Given the description of an element on the screen output the (x, y) to click on. 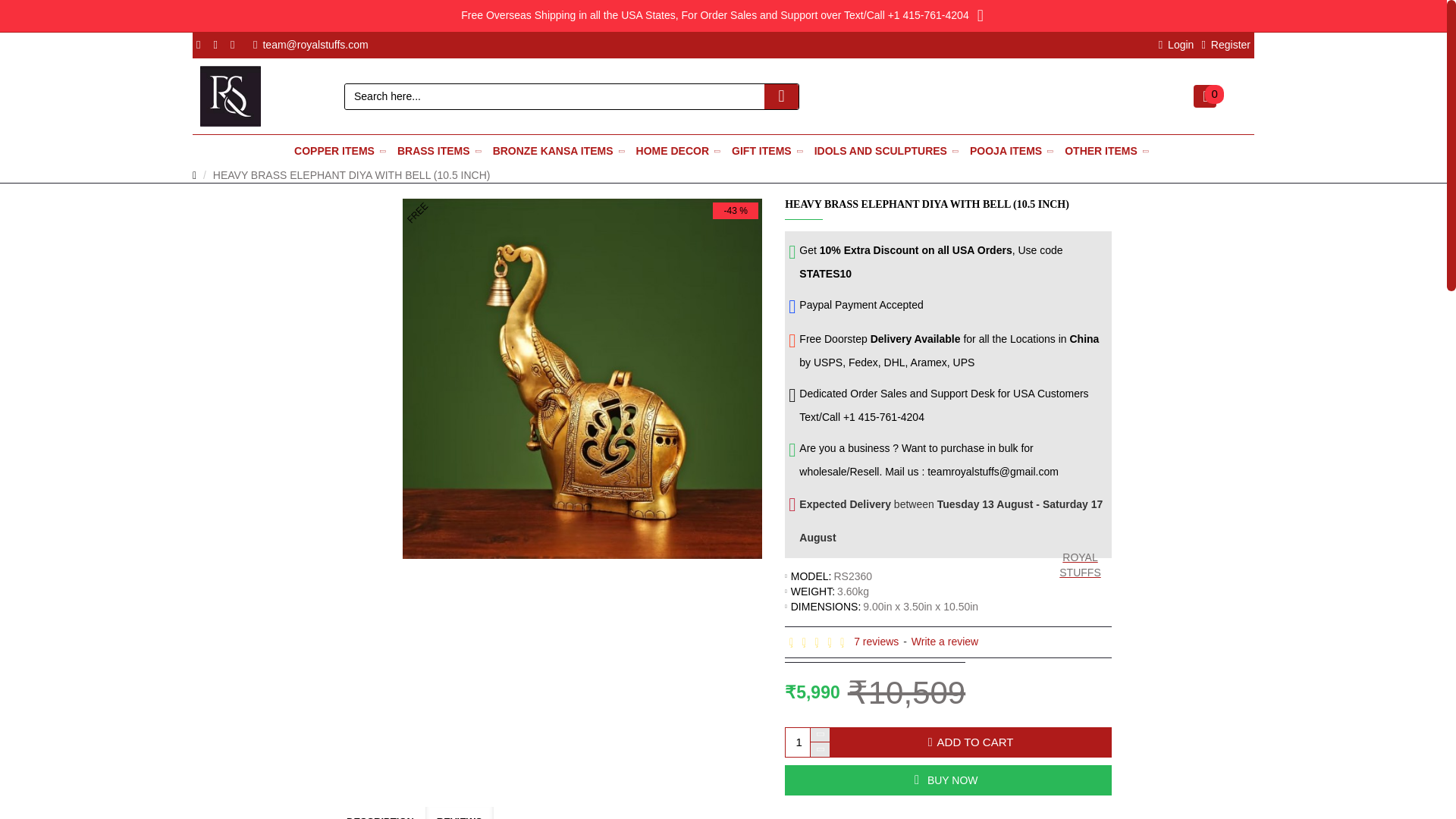
1 (807, 742)
Register (1224, 44)
Royal Stuff (230, 96)
0 (1204, 96)
BRASS ITEMS (441, 151)
Login (1176, 44)
COPPER ITEMS (341, 151)
